Given the description of an element on the screen output the (x, y) to click on. 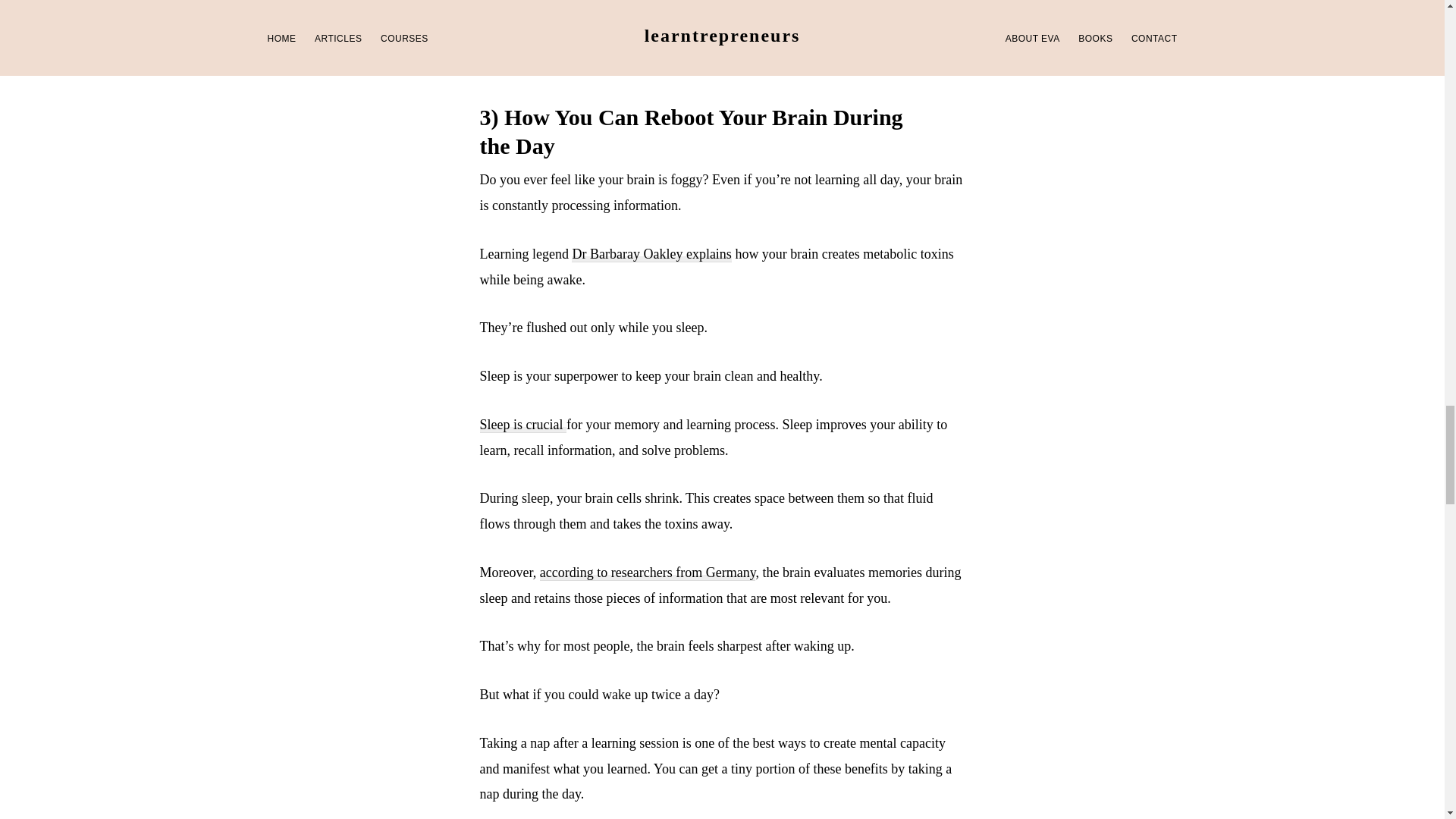
Sleep is crucial (522, 424)
Abhilasha Pandey on the progressive teacher (788, 38)
Dr Barbaray Oakley explains (651, 254)
according to researchers from Germany (647, 572)
